Given the description of an element on the screen output the (x, y) to click on. 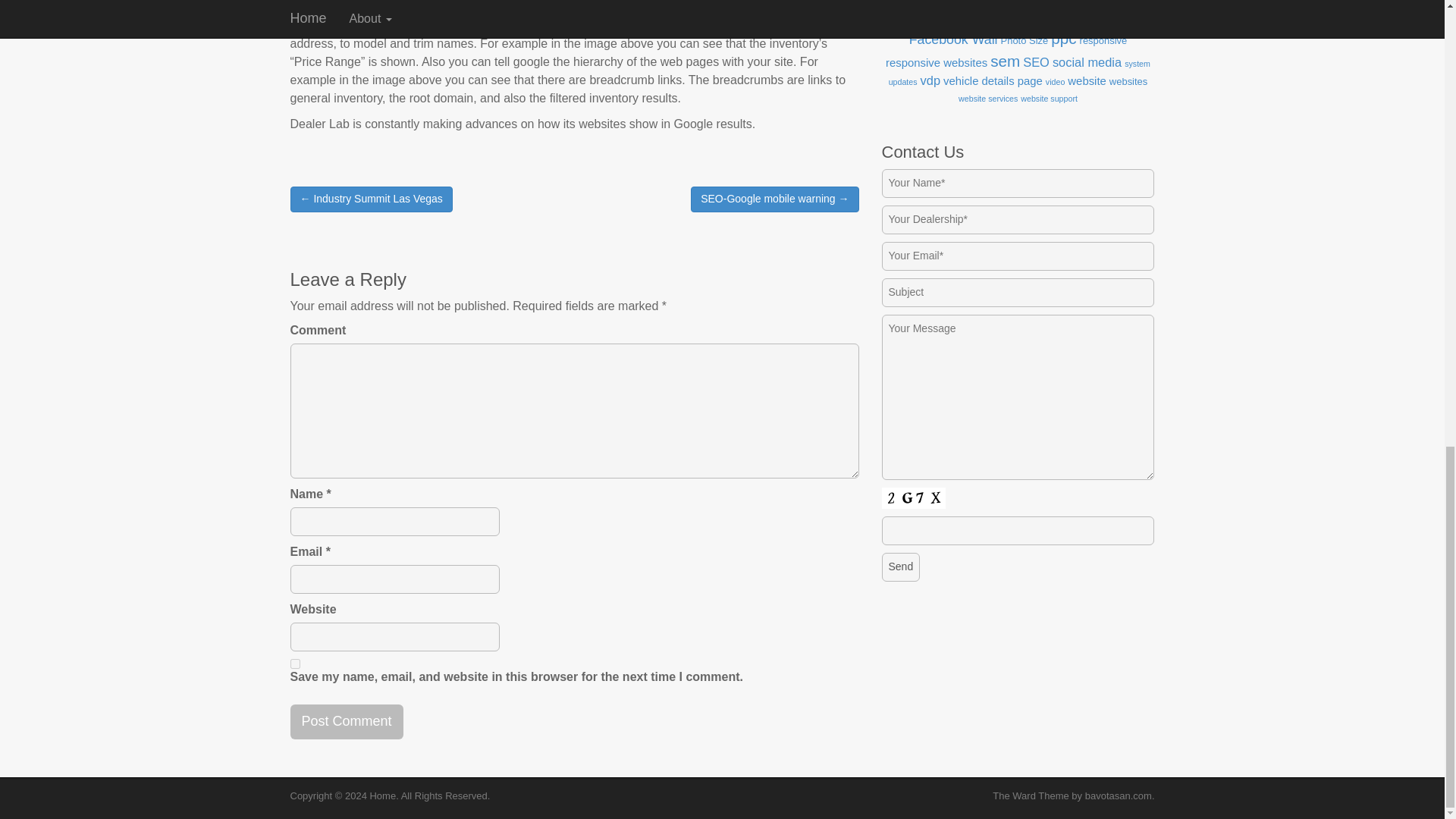
Post Comment (346, 721)
Send (900, 566)
yes (294, 664)
Post Comment (346, 721)
